Given the description of an element on the screen output the (x, y) to click on. 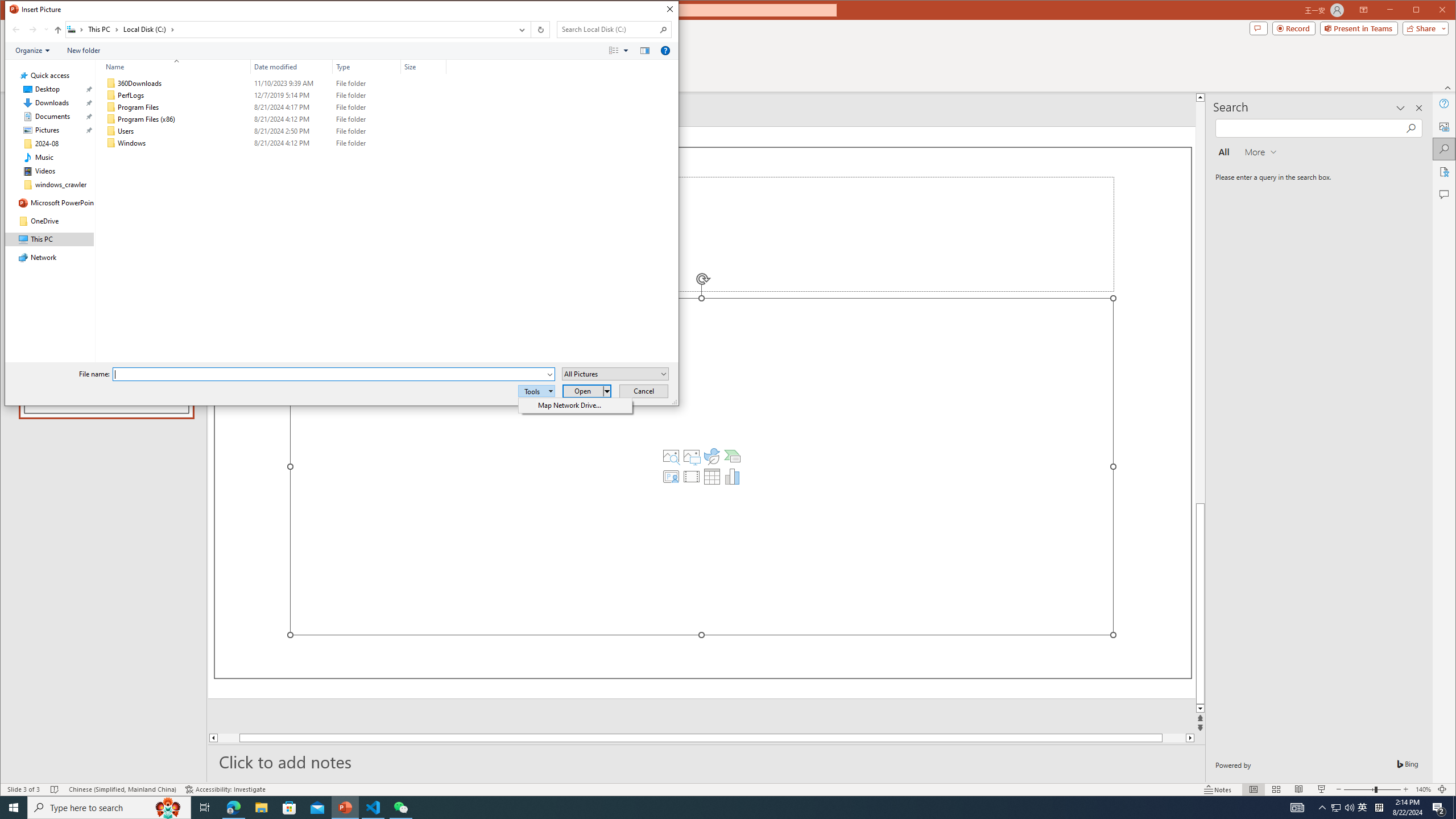
Type (366, 66)
Navigation buttons (28, 29)
Forward (Alt + Right Arrow) (33, 29)
Previous Locations (520, 29)
Windows (273, 142)
Microsoft Store (289, 807)
Search Box (608, 29)
360Downloads (273, 83)
New folder (83, 50)
Zoom 140% (1422, 789)
Open (663, 373)
Alt Text (1444, 125)
Program Files (273, 107)
